Given the description of an element on the screen output the (x, y) to click on. 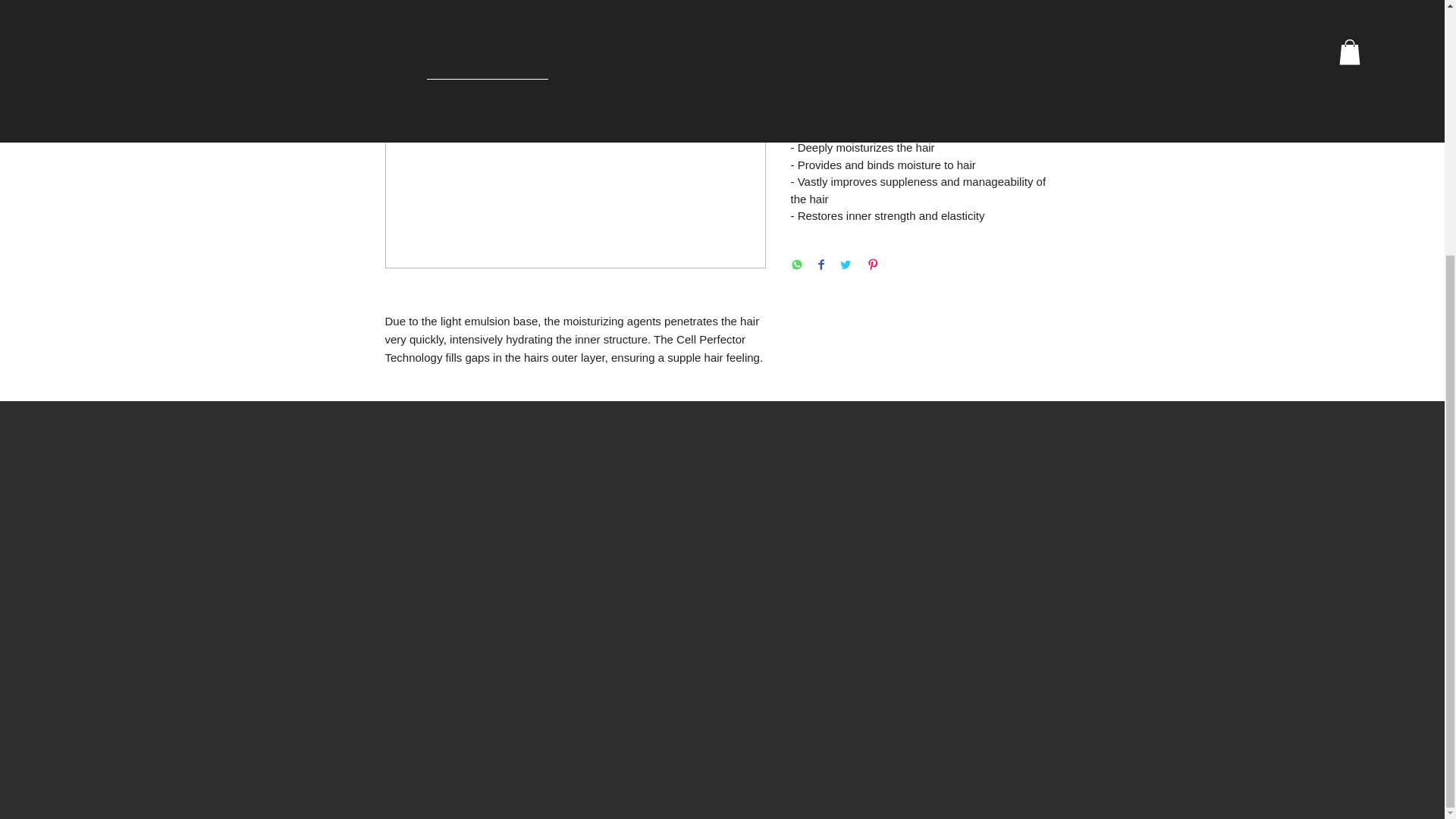
PRODUCT INFO (924, 118)
Add to Cart (924, 59)
1 (818, 9)
